Given the description of an element on the screen output the (x, y) to click on. 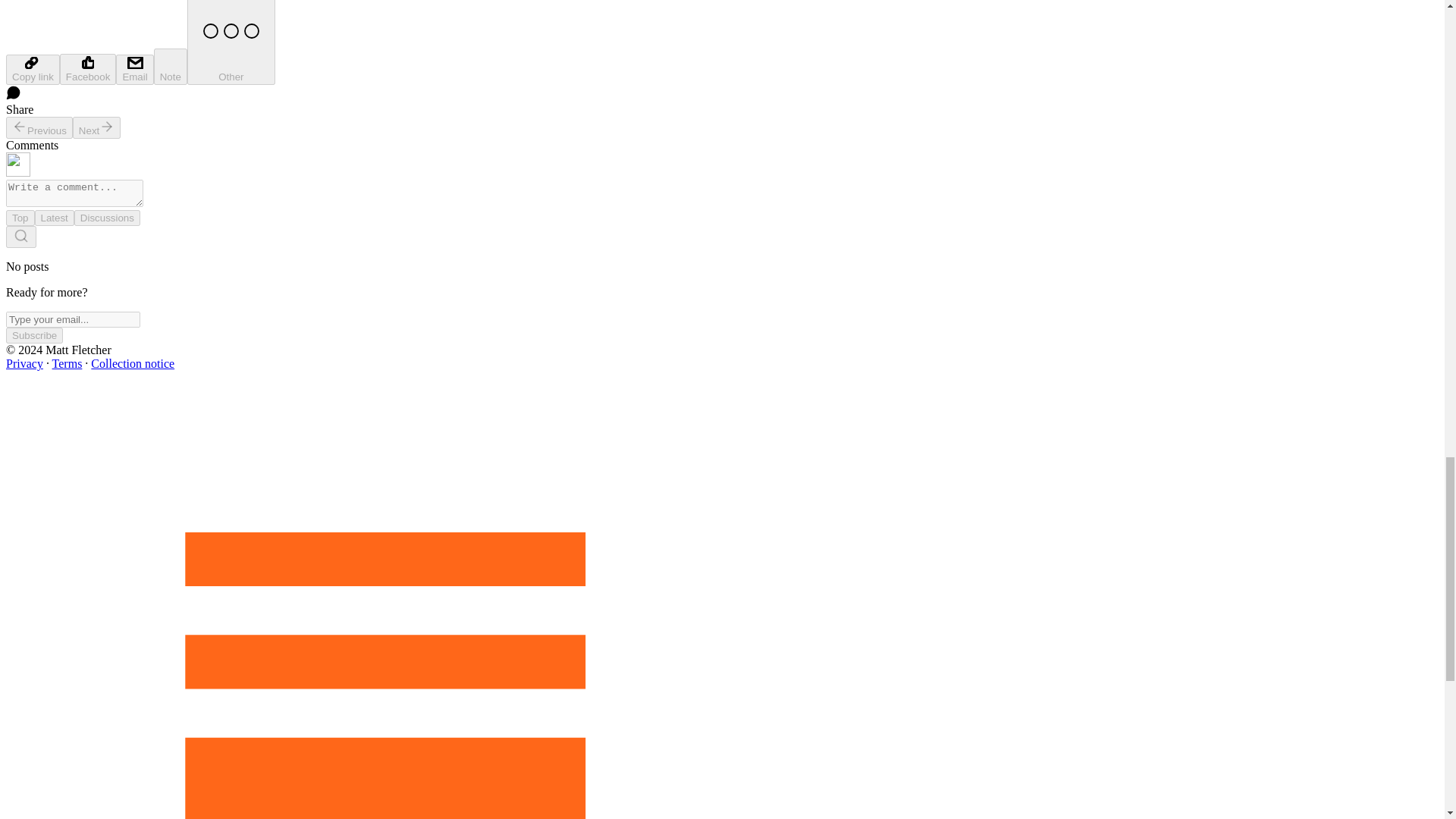
Other (231, 42)
Copy link (32, 69)
Facebook (87, 69)
Note (170, 66)
Email (134, 69)
